Given the description of an element on the screen output the (x, y) to click on. 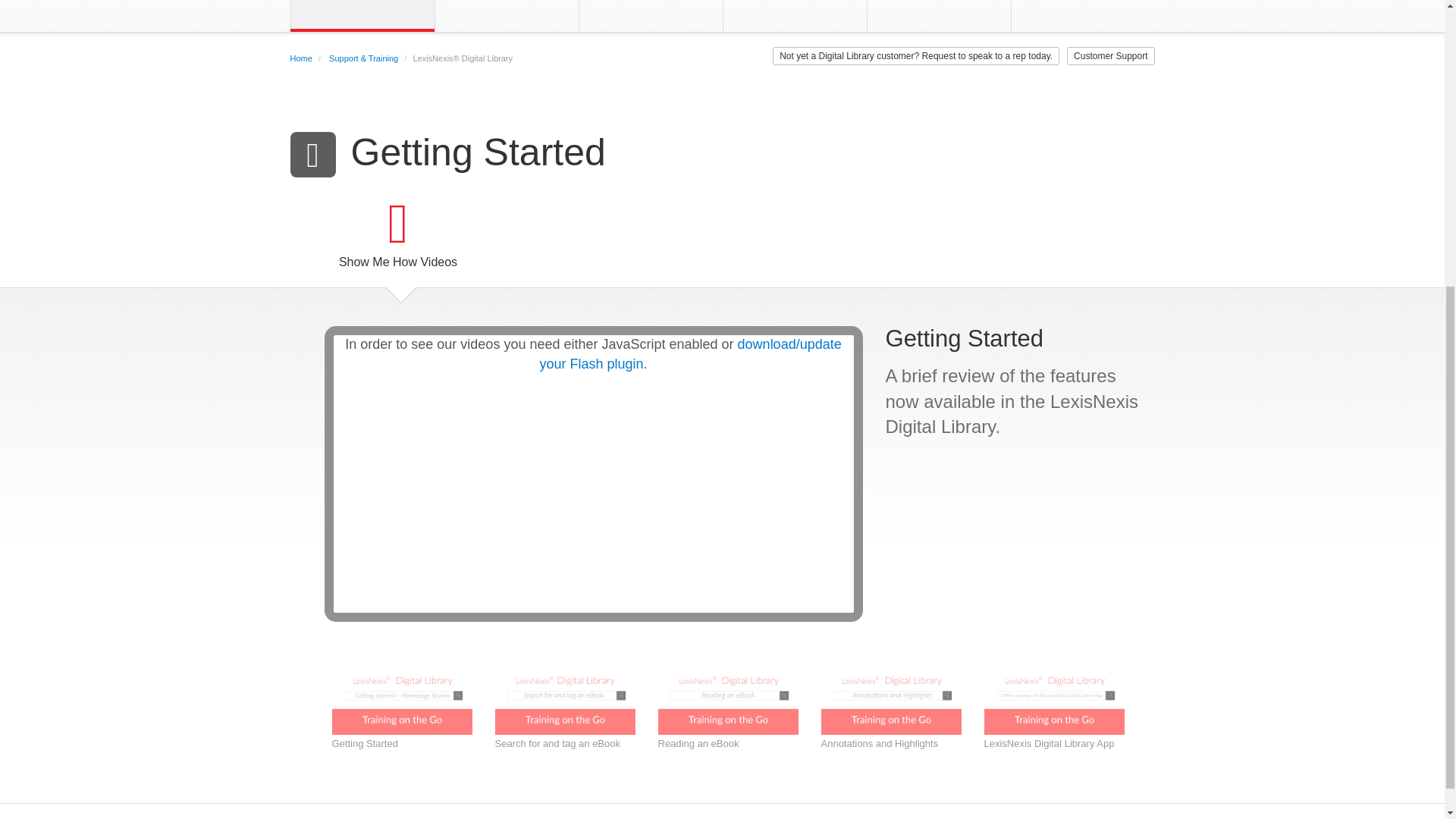
Case Studies (937, 5)
Getting Started (362, 5)
Customer Support (1110, 55)
Customer Support (1082, 5)
Customer Support (1082, 5)
Getting Started (362, 5)
Launch Support (650, 5)
FAQ (794, 5)
Training Guides (506, 5)
Case Studies (937, 5)
FAQ (794, 5)
Show Me How Videos (398, 239)
Launch Support (650, 5)
Training Guides (506, 5)
